Given the description of an element on the screen output the (x, y) to click on. 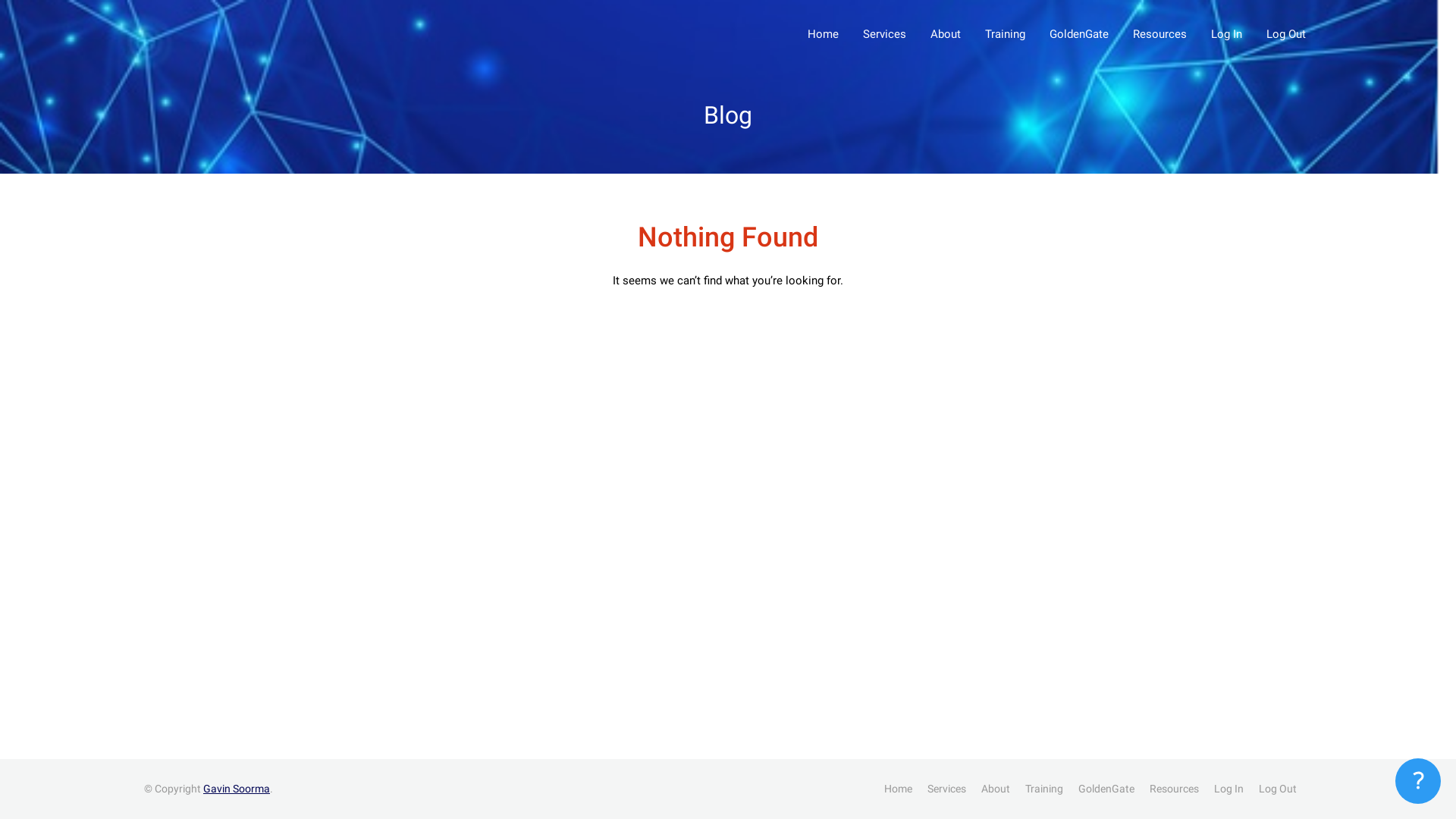
Gavin Soorma Element type: text (236, 788)
Home Element type: text (898, 788)
Services Element type: text (946, 788)
Resources Element type: text (1173, 788)
GoldenGate Element type: text (1078, 34)
Log In Element type: text (1228, 788)
Home Element type: text (822, 34)
Resources Element type: text (1159, 34)
About Element type: text (995, 788)
Services Element type: text (884, 34)
About Element type: text (945, 34)
GoldenGate Element type: text (1106, 788)
Log Out Element type: text (1277, 788)
Log Out Element type: text (1285, 34)
Training Element type: text (1044, 788)
Log In Element type: text (1226, 34)
Training Element type: text (1005, 34)
